Given the description of an element on the screen output the (x, y) to click on. 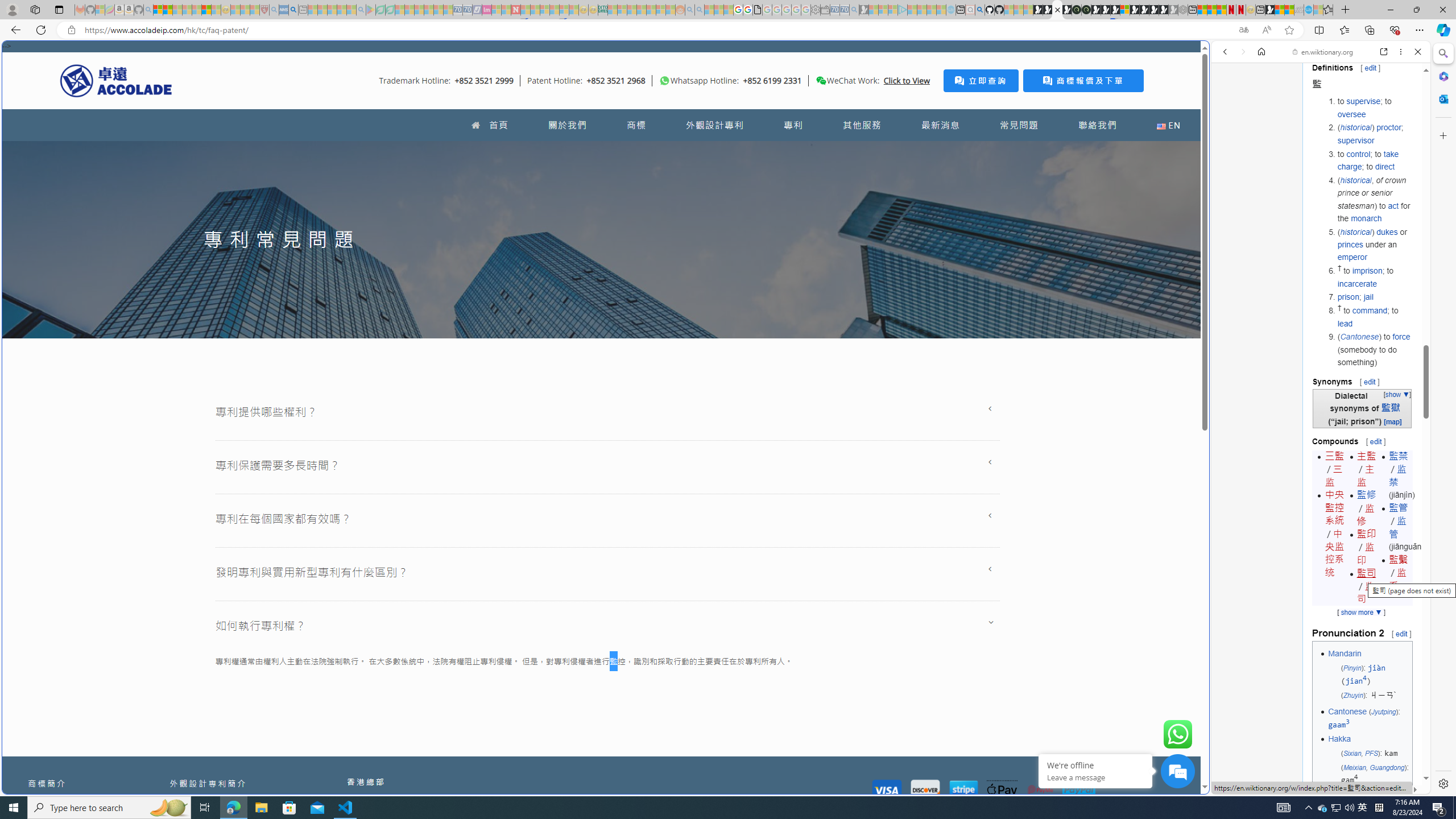
Hakka (1339, 738)
Accolade IP HK Logo (116, 80)
Recipes - MSN - Sleeping (234, 9)
act (1393, 205)
Cheap Hotels - Save70.com - Sleeping (467, 9)
